Given the description of an element on the screen output the (x, y) to click on. 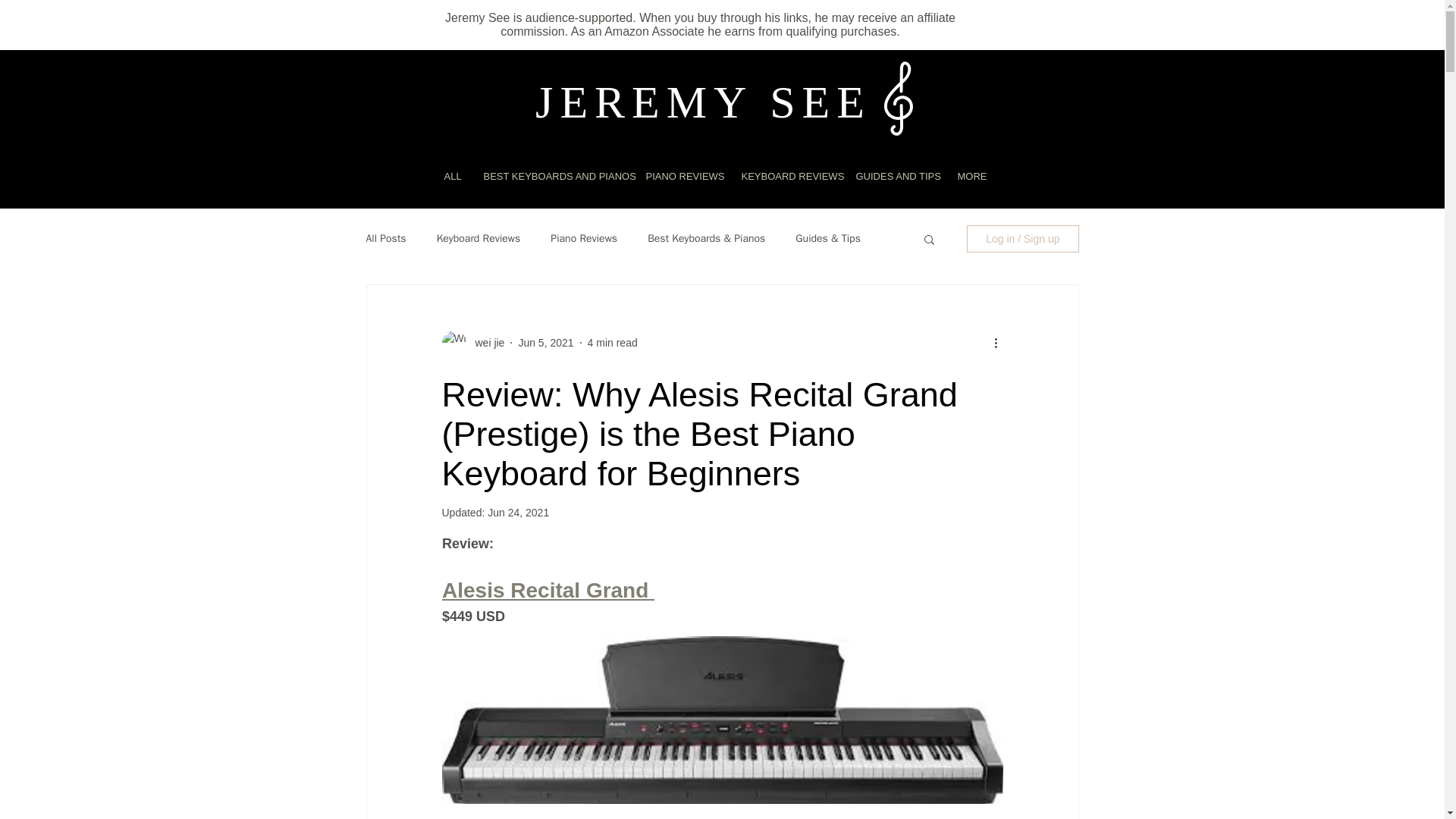
wei jie (484, 342)
4 min read (612, 342)
KEYBOARD REVIEWS (786, 176)
Alesis Recital Grand  (547, 589)
All Posts (385, 238)
ALL (451, 176)
Piano Reviews (583, 238)
PIANO REVIEWS (681, 176)
Jun 24, 2021 (517, 512)
JEREMY SEE (702, 101)
BEST KEYBOARDS AND PIANOS (552, 176)
GUIDES AND TIPS (895, 176)
Keyboard Reviews (478, 238)
Jun 5, 2021 (545, 342)
